Given the description of an element on the screen output the (x, y) to click on. 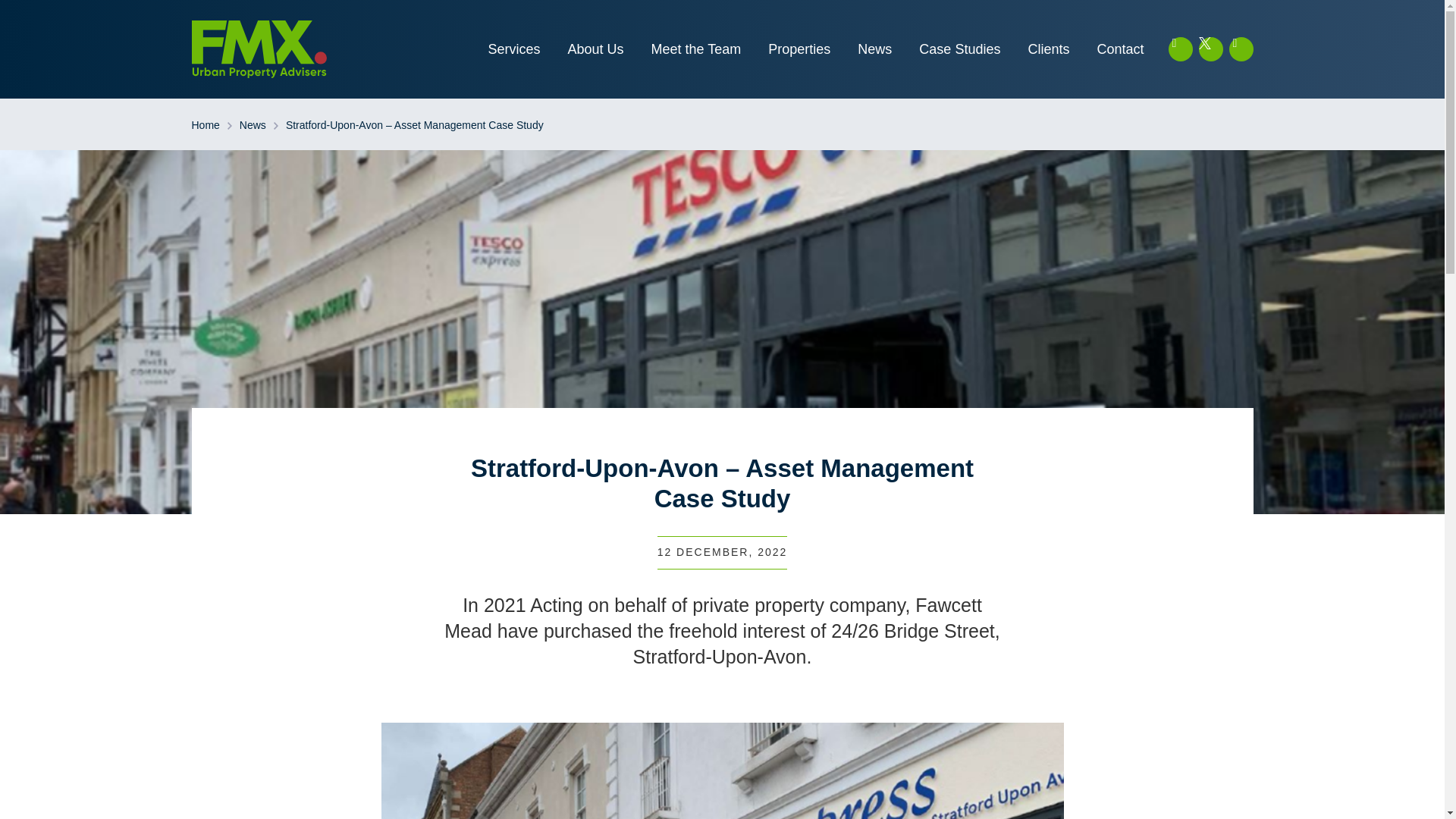
About Us (595, 48)
News (253, 125)
Home (204, 125)
Properties (799, 48)
Clients (1048, 48)
Services (513, 48)
Meet the Team (696, 48)
News (874, 48)
Case Studies (959, 48)
Contact (1120, 48)
